Given the description of an element on the screen output the (x, y) to click on. 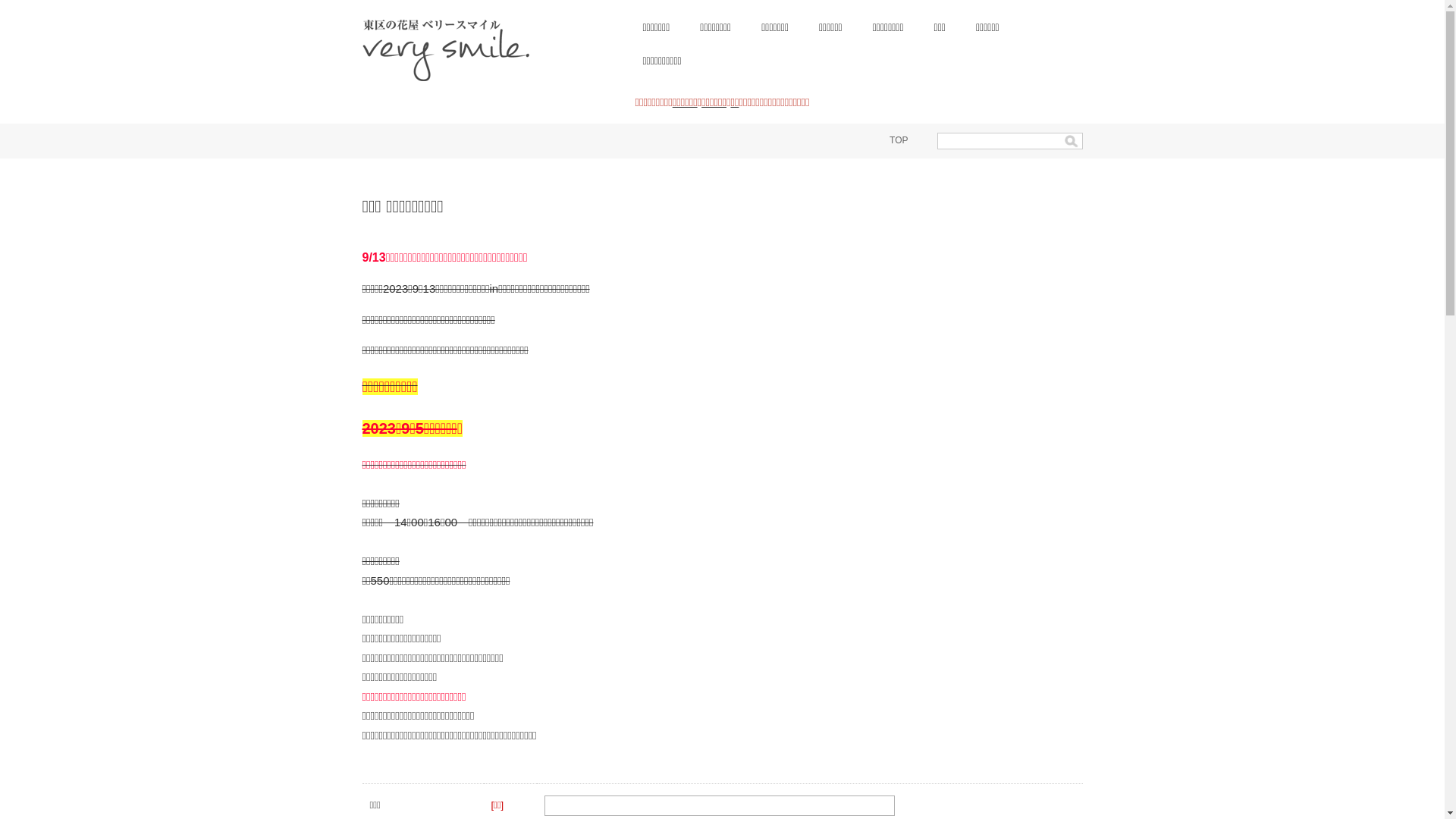
TOP Element type: text (898, 139)
